Given the description of an element on the screen output the (x, y) to click on. 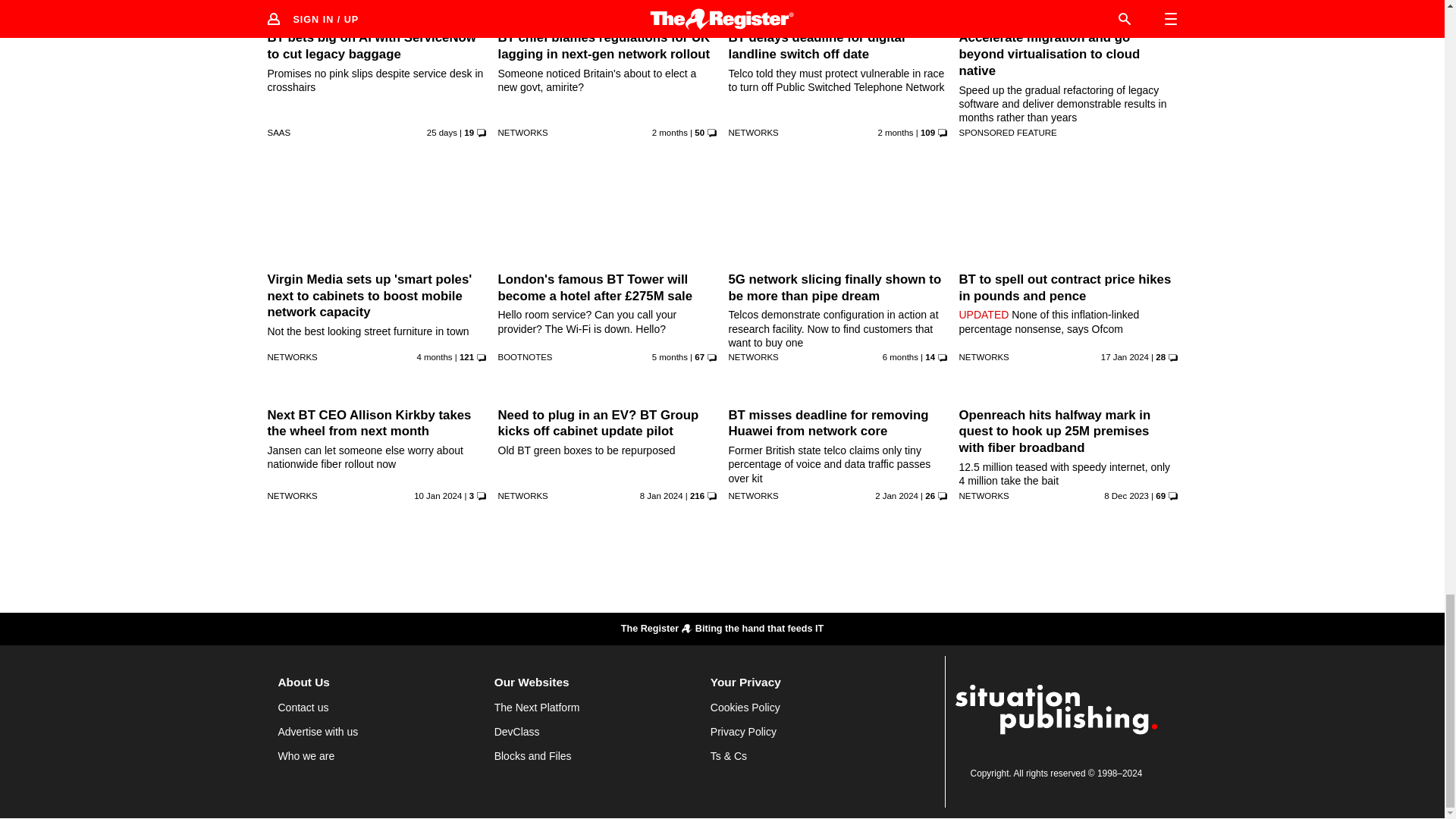
21 May 2024 9:29 (894, 132)
19 Mar 2024 11:49 (433, 356)
17 Jan 2024 10:15 (1124, 356)
3 Jul 2024 10:30 (441, 132)
8 Feb 2024 13:15 (900, 356)
10 Jan 2024 10:15 (437, 495)
21 Feb 2024 12:32 (669, 356)
8 Jan 2024 9:30 (661, 495)
6 Jun 2024 9:33 (669, 132)
